Given the description of an element on the screen output the (x, y) to click on. 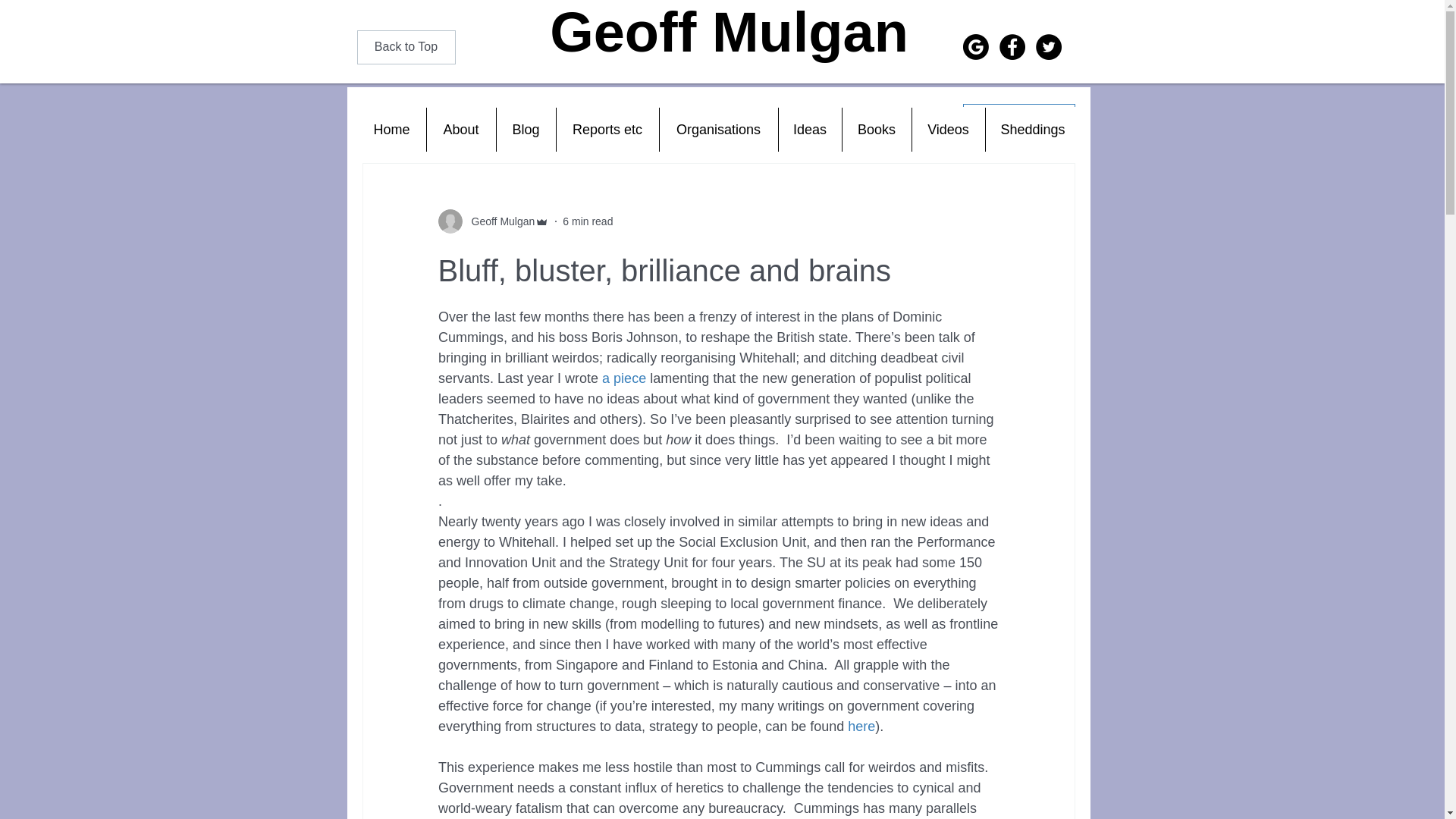
6 min read (587, 221)
Reports etc (606, 129)
Geoff Mulgan (499, 221)
Ideas (809, 129)
Back to Top (405, 47)
Books (876, 129)
Blog (526, 129)
About (461, 129)
here (861, 726)
Home (392, 129)
a piece (624, 378)
Geoff Mulgan (729, 31)
All Posts (384, 117)
Organisations (717, 129)
